Given the description of an element on the screen output the (x, y) to click on. 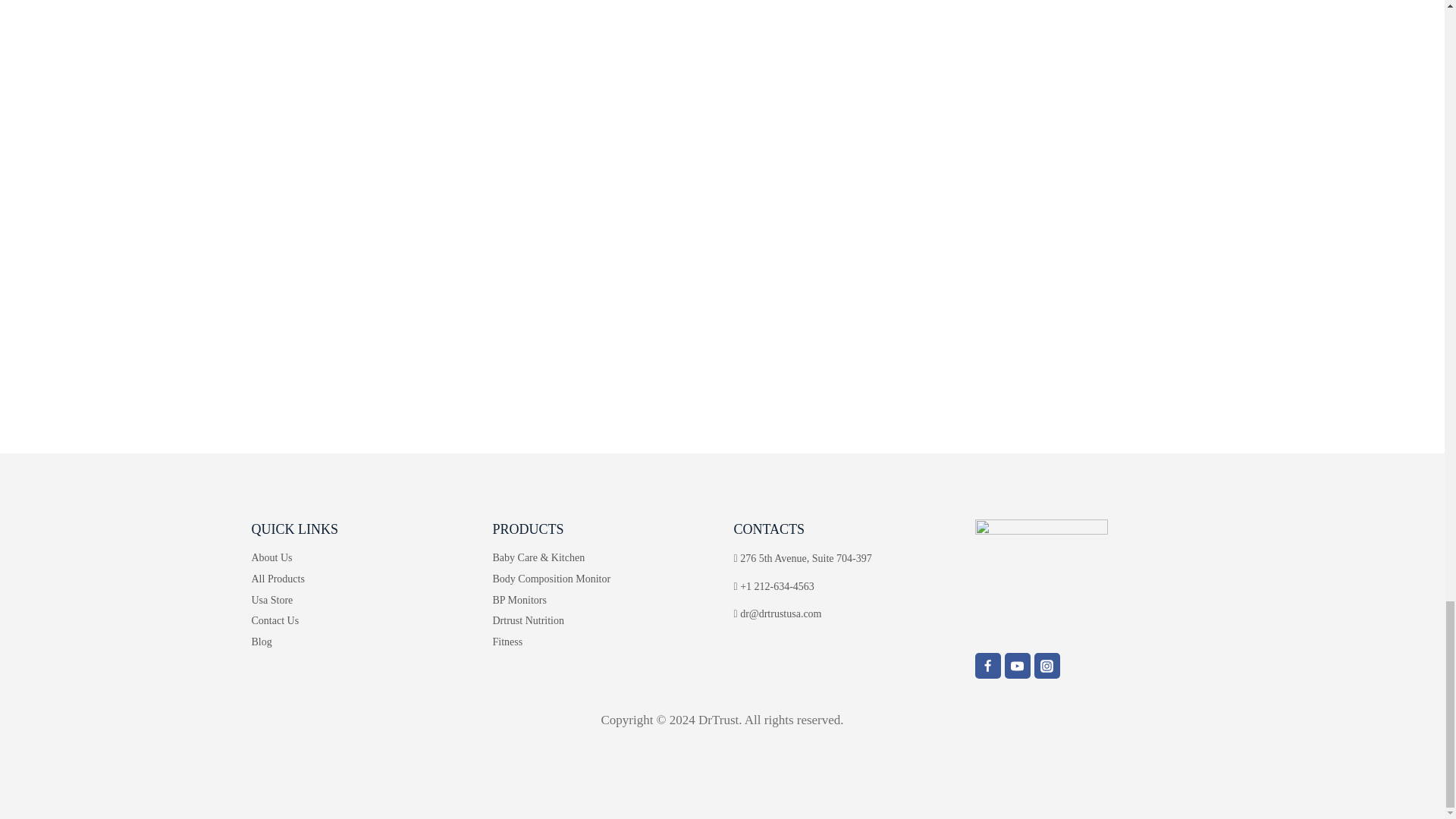
Contact Us (360, 620)
All Products (360, 578)
Usa Store (360, 599)
Body Composition Monitor (602, 578)
BP Monitors (602, 599)
Blog (360, 641)
Fitness (602, 641)
Drtrust Nutrition (602, 620)
About Us (360, 557)
